Given the description of an element on the screen output the (x, y) to click on. 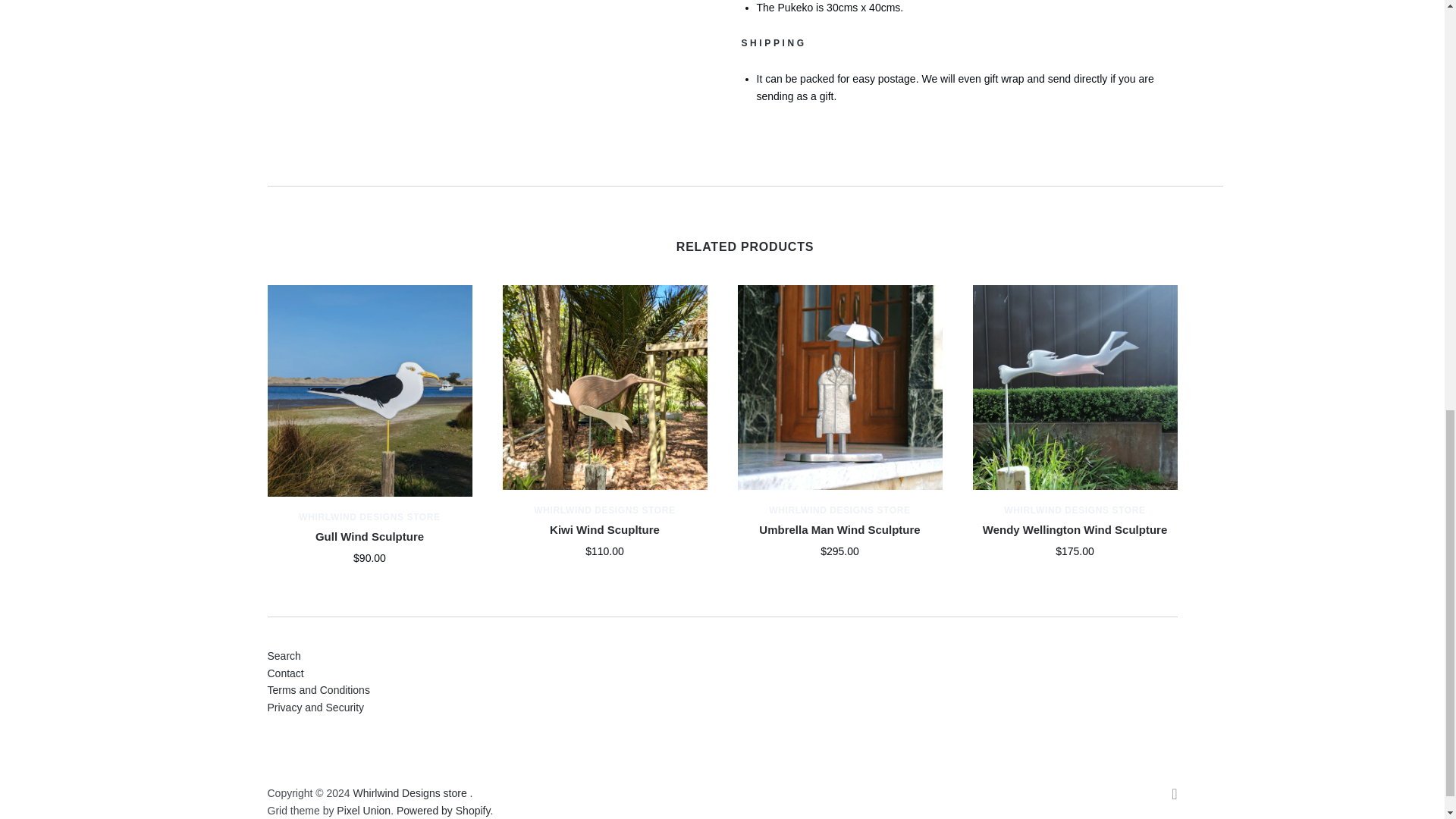
Whirlwind Designs store (604, 510)
WHIRLWIND DESIGNS STORE (368, 516)
Whirlwind Designs store (1074, 510)
Whirlwind Designs store (368, 516)
WHIRLWIND DESIGNS STORE (604, 510)
Gull Wind Sculpture (369, 535)
Whirlwind Designs store (839, 510)
